Given the description of an element on the screen output the (x, y) to click on. 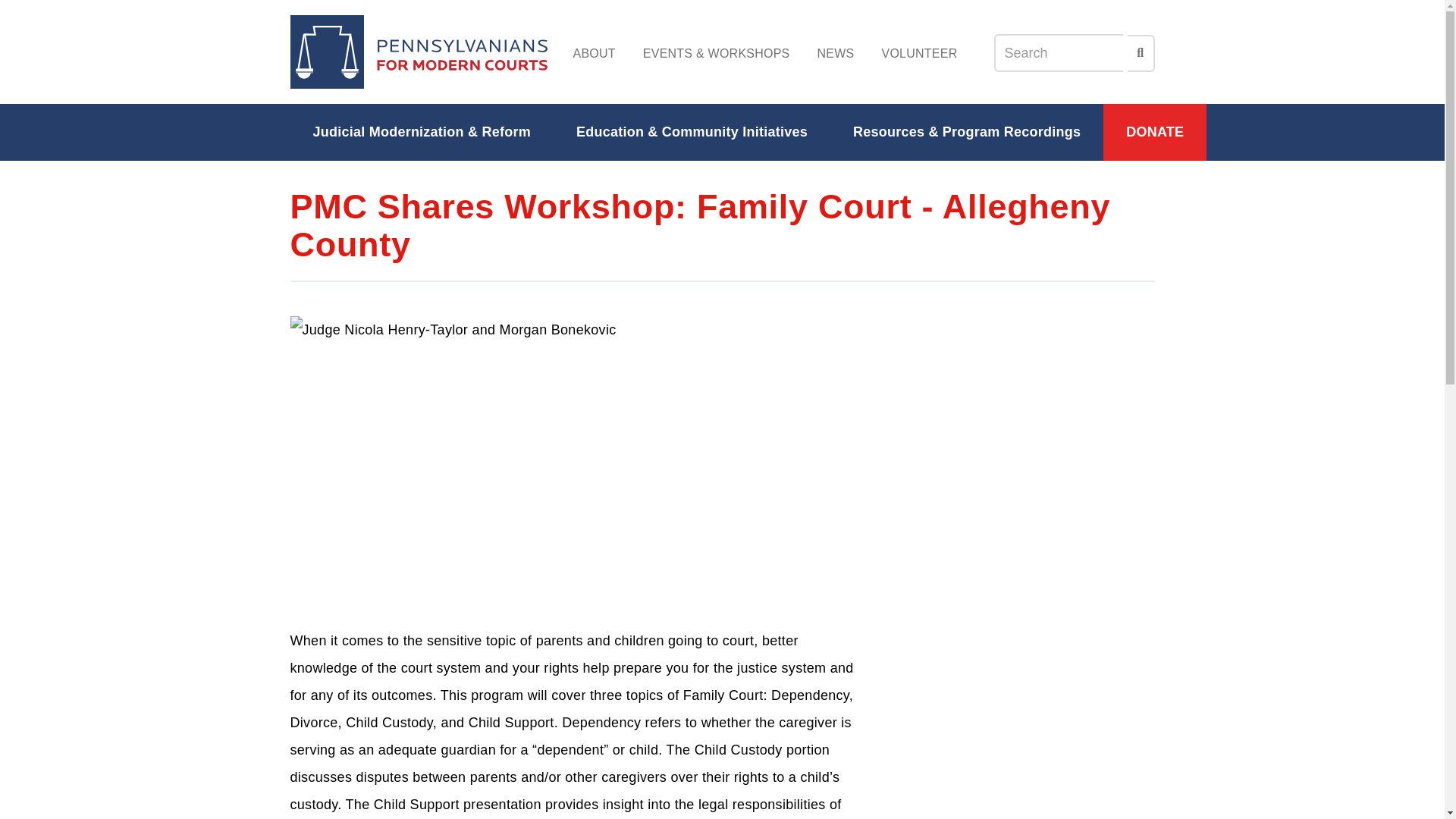
Enter the terms you wish to search for. (1057, 53)
Home (418, 51)
DONATE (1155, 132)
ABOUT (594, 53)
VOLUNTEER (919, 53)
NEWS (835, 53)
